Given the description of an element on the screen output the (x, y) to click on. 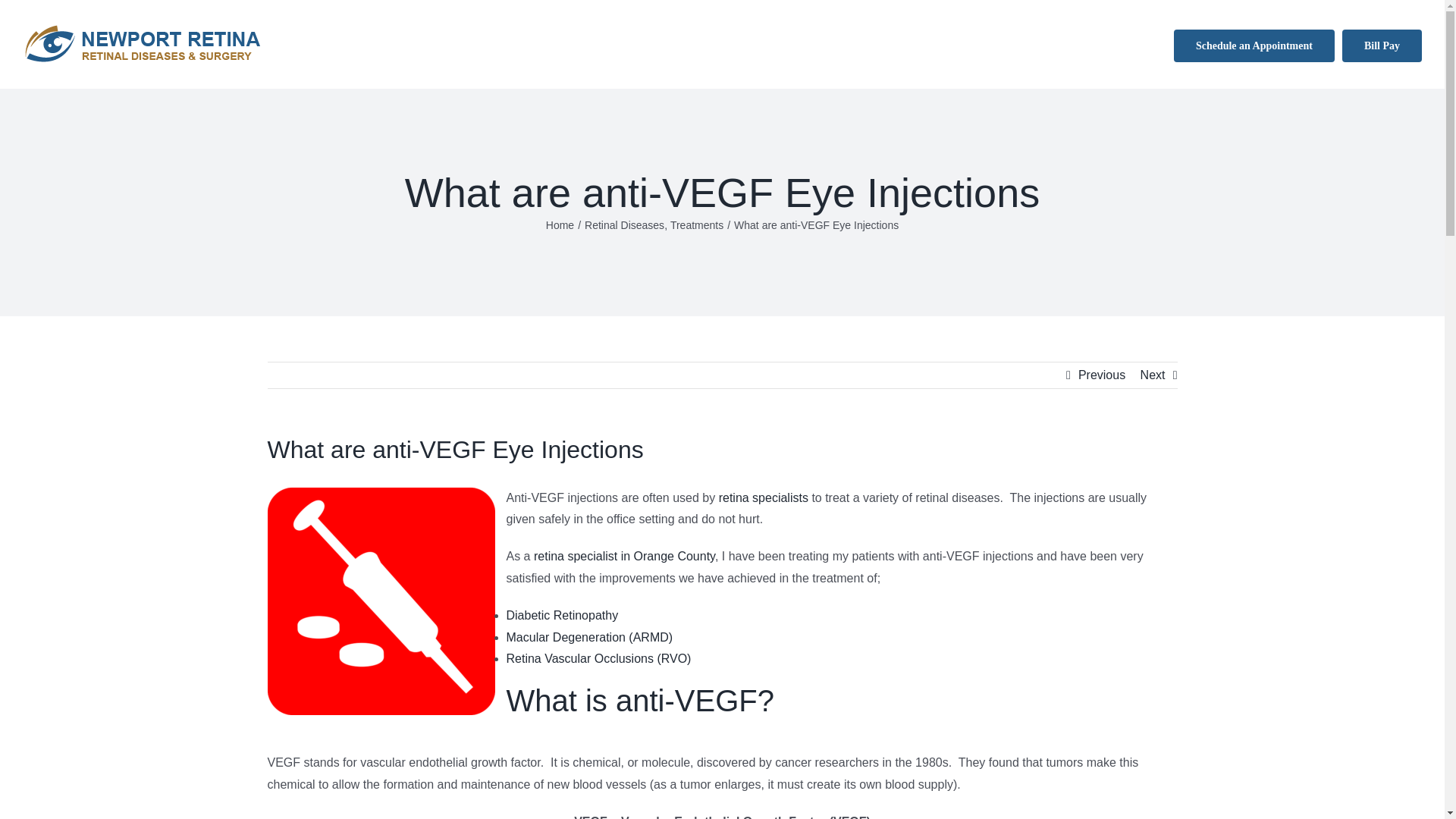
Diabetic Retinopathy (562, 615)
Treatments (696, 224)
retina specialists (762, 497)
Next (1153, 375)
retina specialist in Orange County (624, 555)
Bill Pay (1382, 44)
Home (559, 224)
Schedule an Appointment (1254, 44)
Previous (1101, 375)
Retinal Diseases (624, 224)
